Given the description of an element on the screen output the (x, y) to click on. 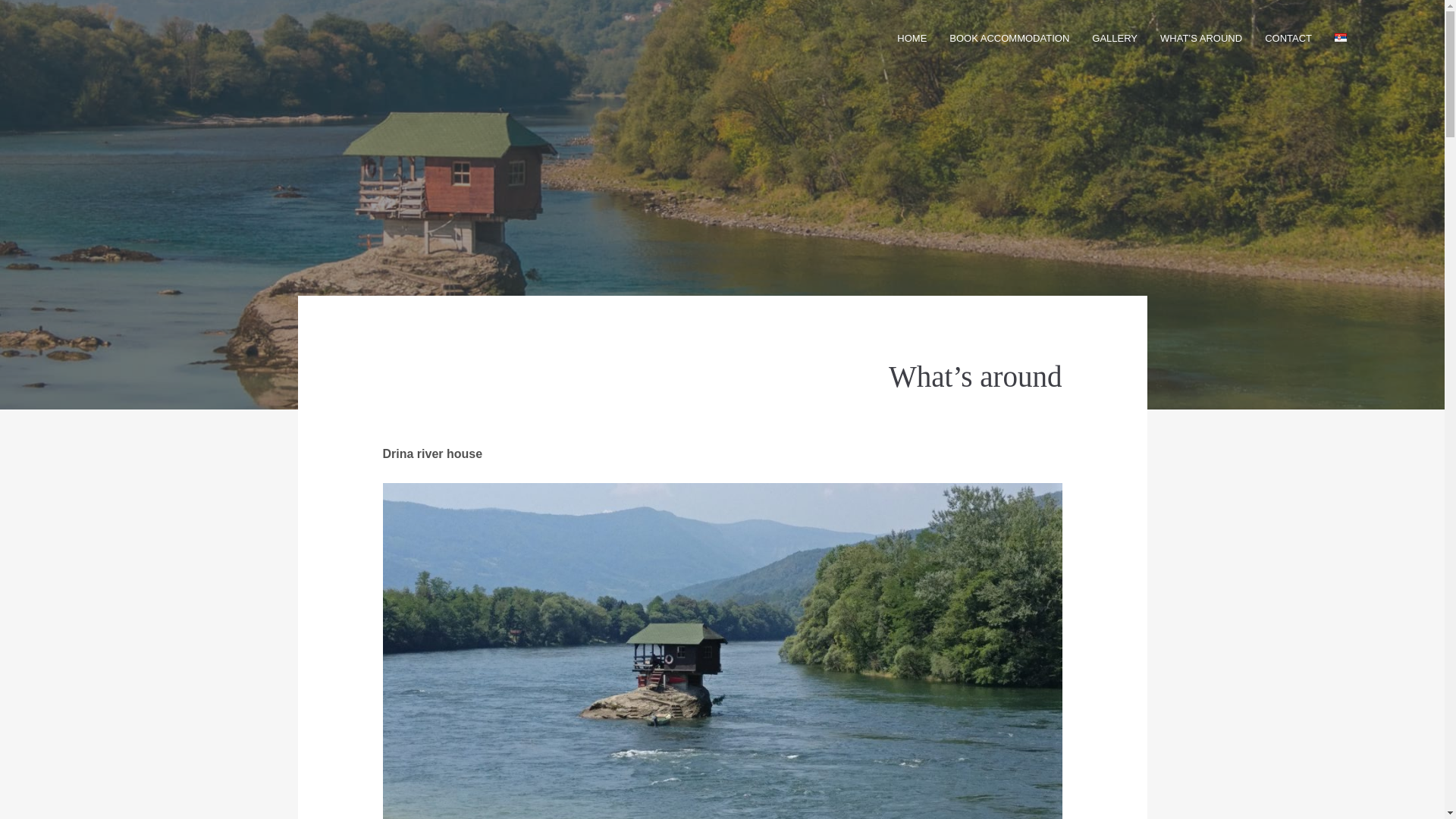
GALLERY (1114, 38)
BOOK ACCOMMODATION (1008, 38)
Drina's Heart (129, 37)
CONTACT (1288, 38)
